Given the description of an element on the screen output the (x, y) to click on. 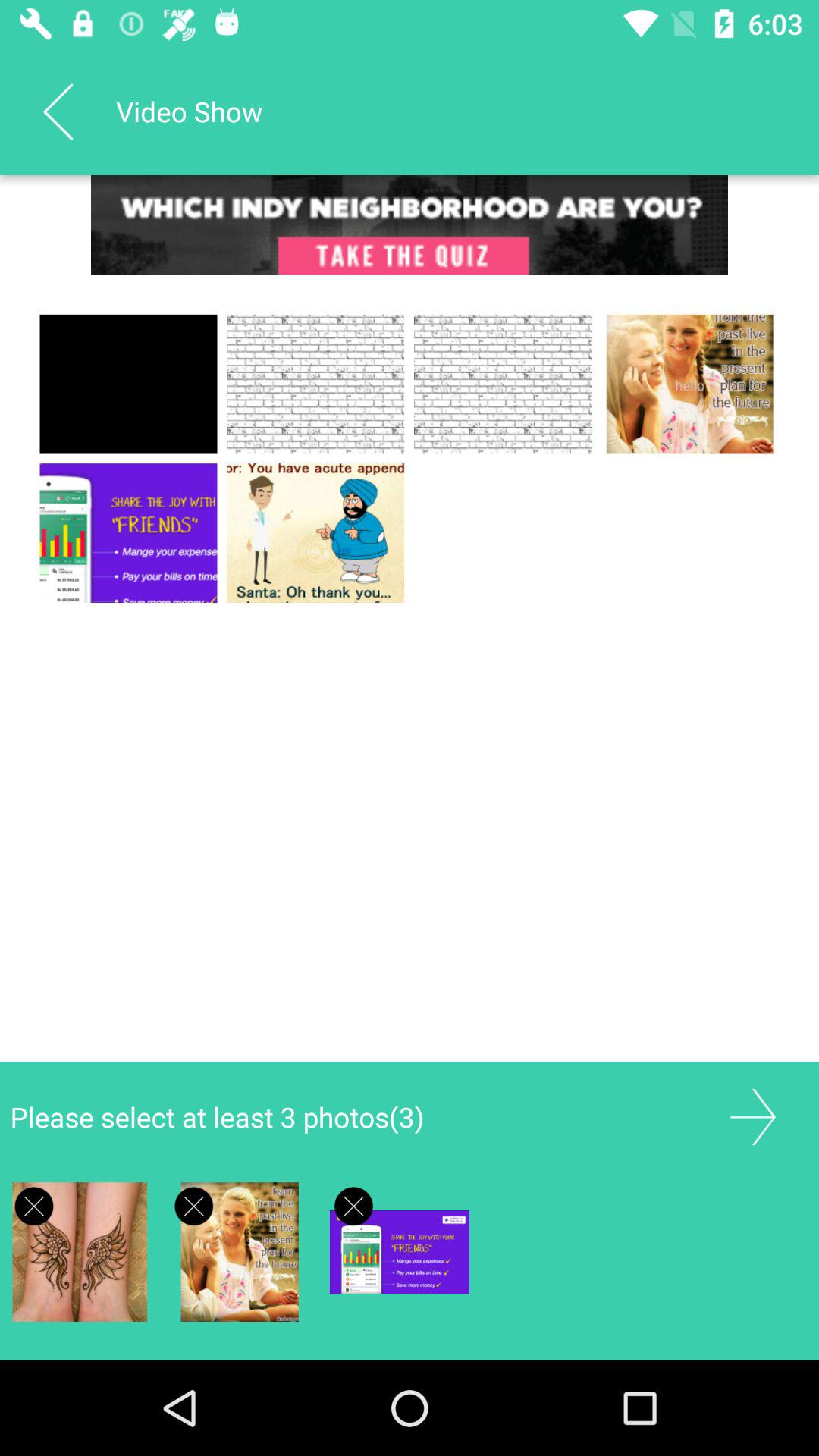
close window (353, 1206)
